Given the description of an element on the screen output the (x, y) to click on. 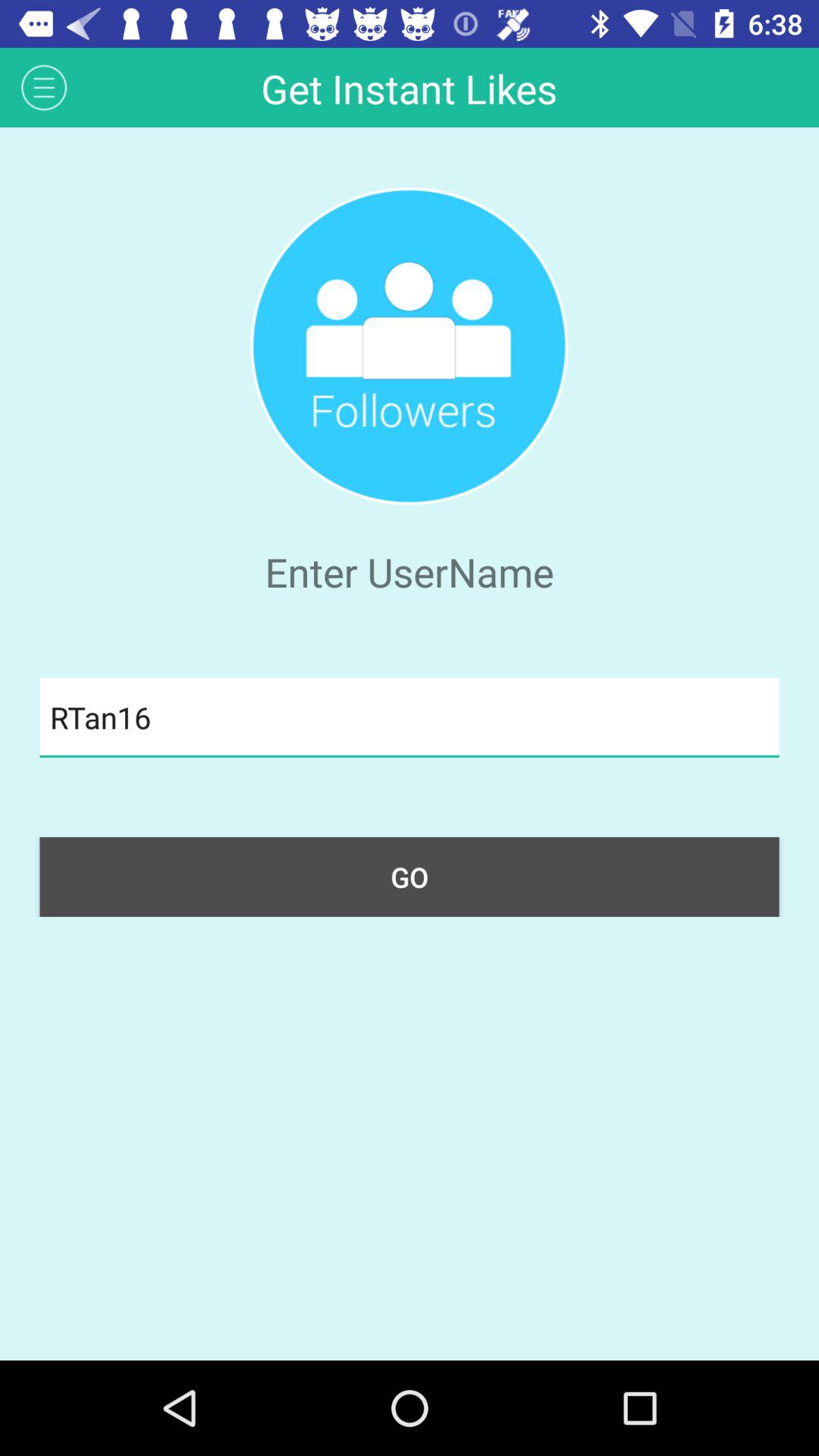
turn off the icon below enter username app (409, 717)
